Given the description of an element on the screen output the (x, y) to click on. 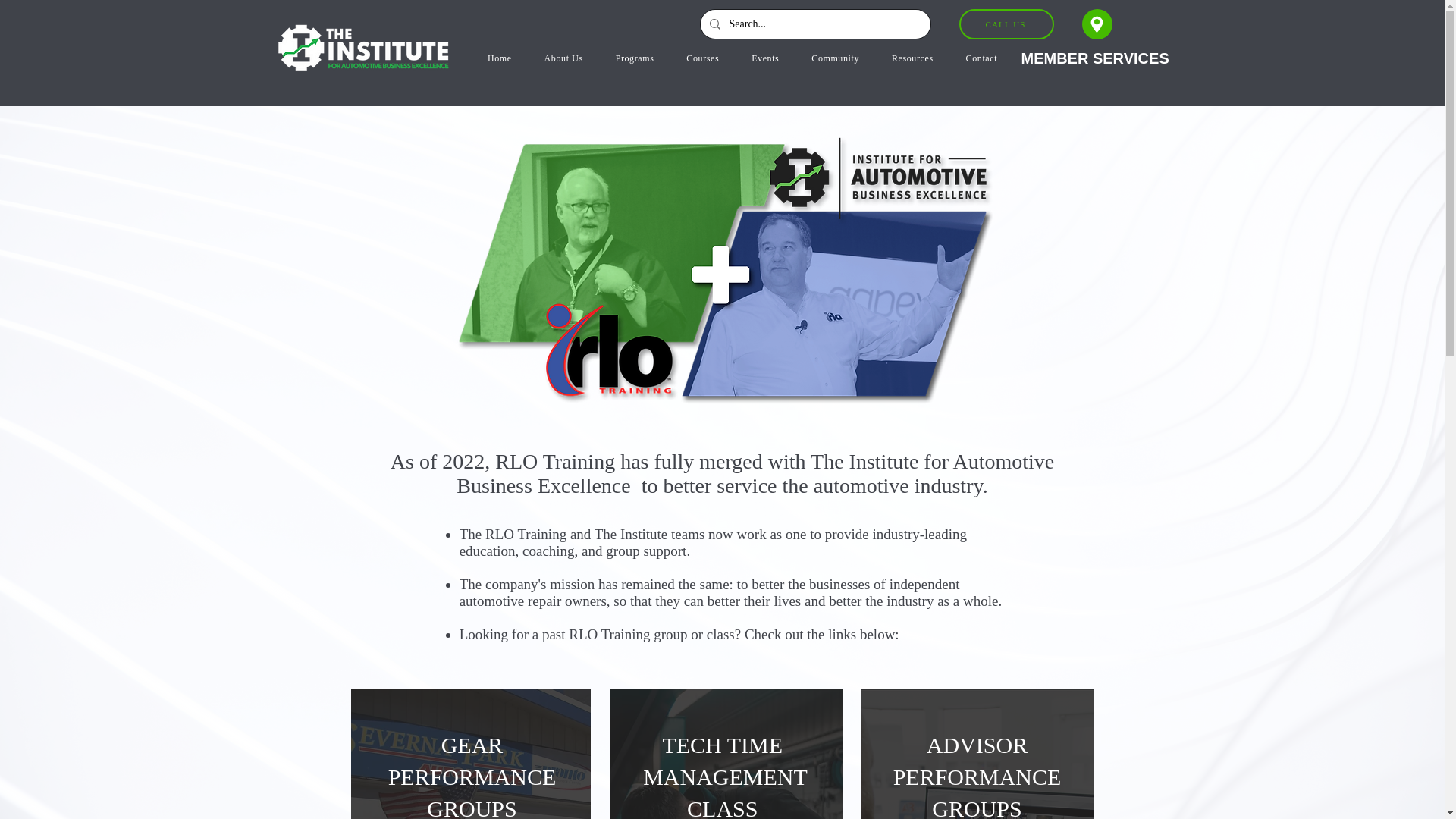
Courses (702, 58)
Community (835, 58)
Programs (633, 58)
MEMBER SERVICES (1094, 57)
Resources (912, 58)
Events (764, 58)
Home (499, 58)
CALL US (1005, 24)
Contact (981, 58)
About Us (562, 58)
